Given the description of an element on the screen output the (x, y) to click on. 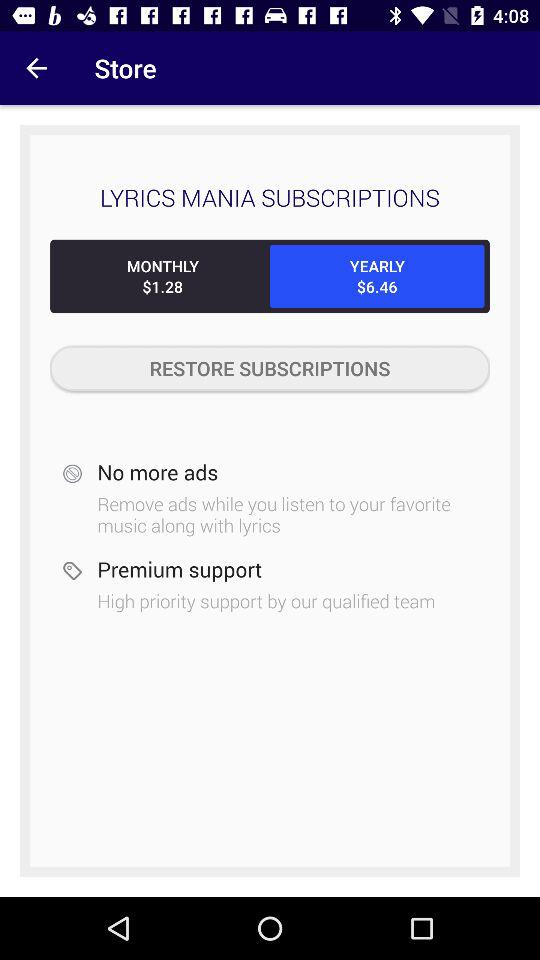
jump to yearly
$6.46 icon (377, 275)
